Given the description of an element on the screen output the (x, y) to click on. 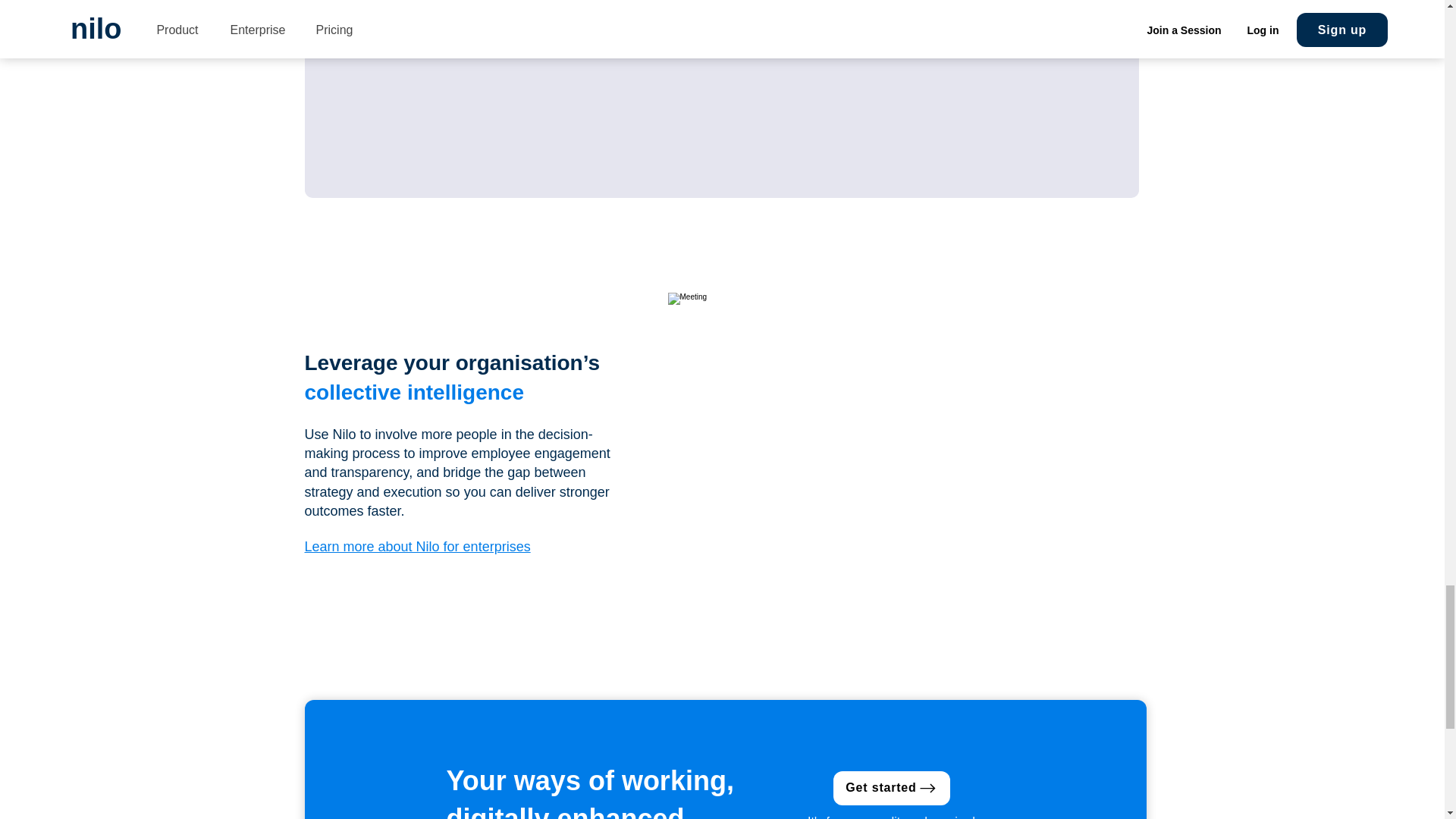
Learn more (395, 42)
Get started (890, 788)
Learn more about Nilo for enterprises (417, 546)
